Given the description of an element on the screen output the (x, y) to click on. 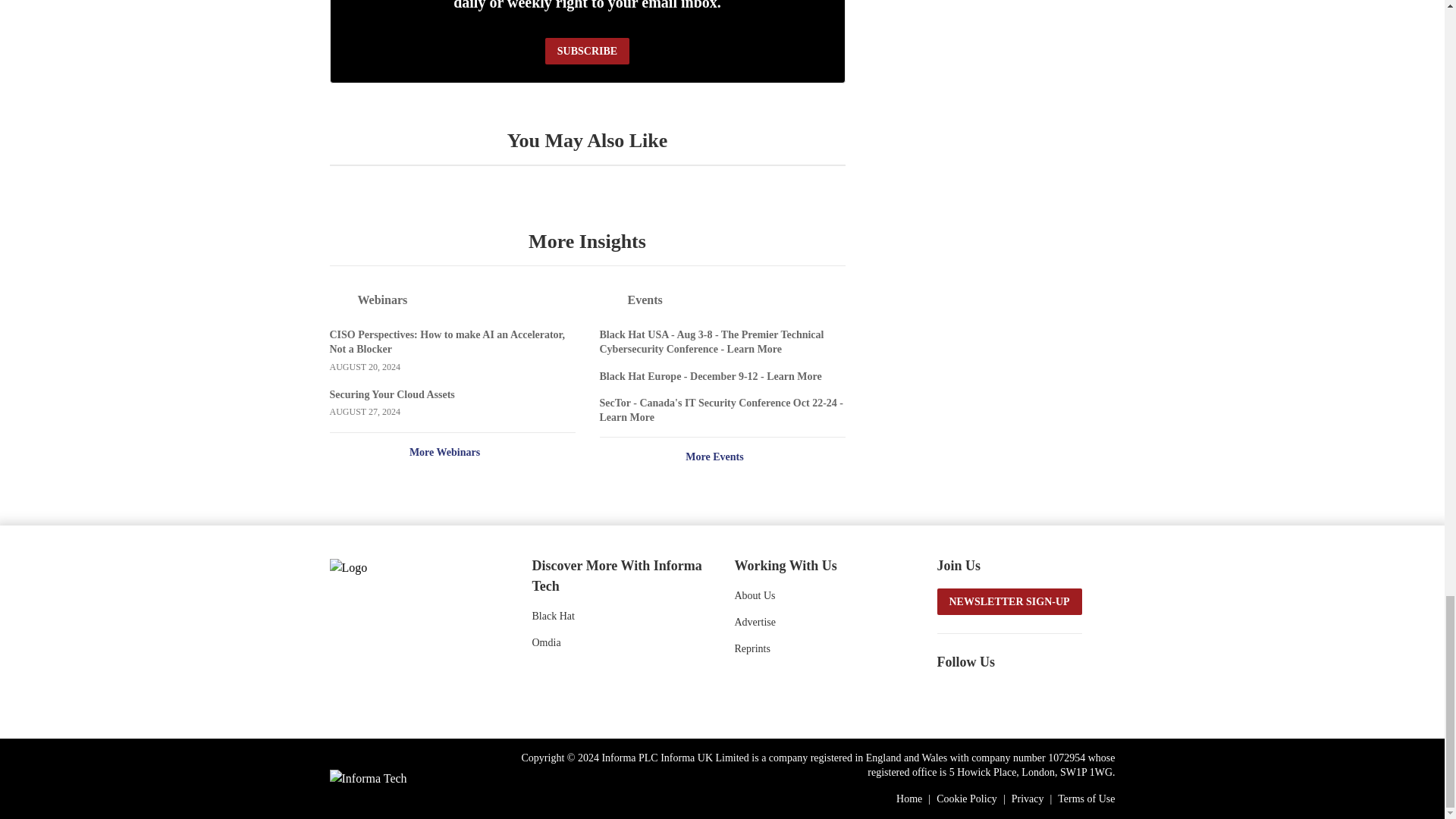
Informa Tech (367, 778)
Logo (410, 566)
